Given the description of an element on the screen output the (x, y) to click on. 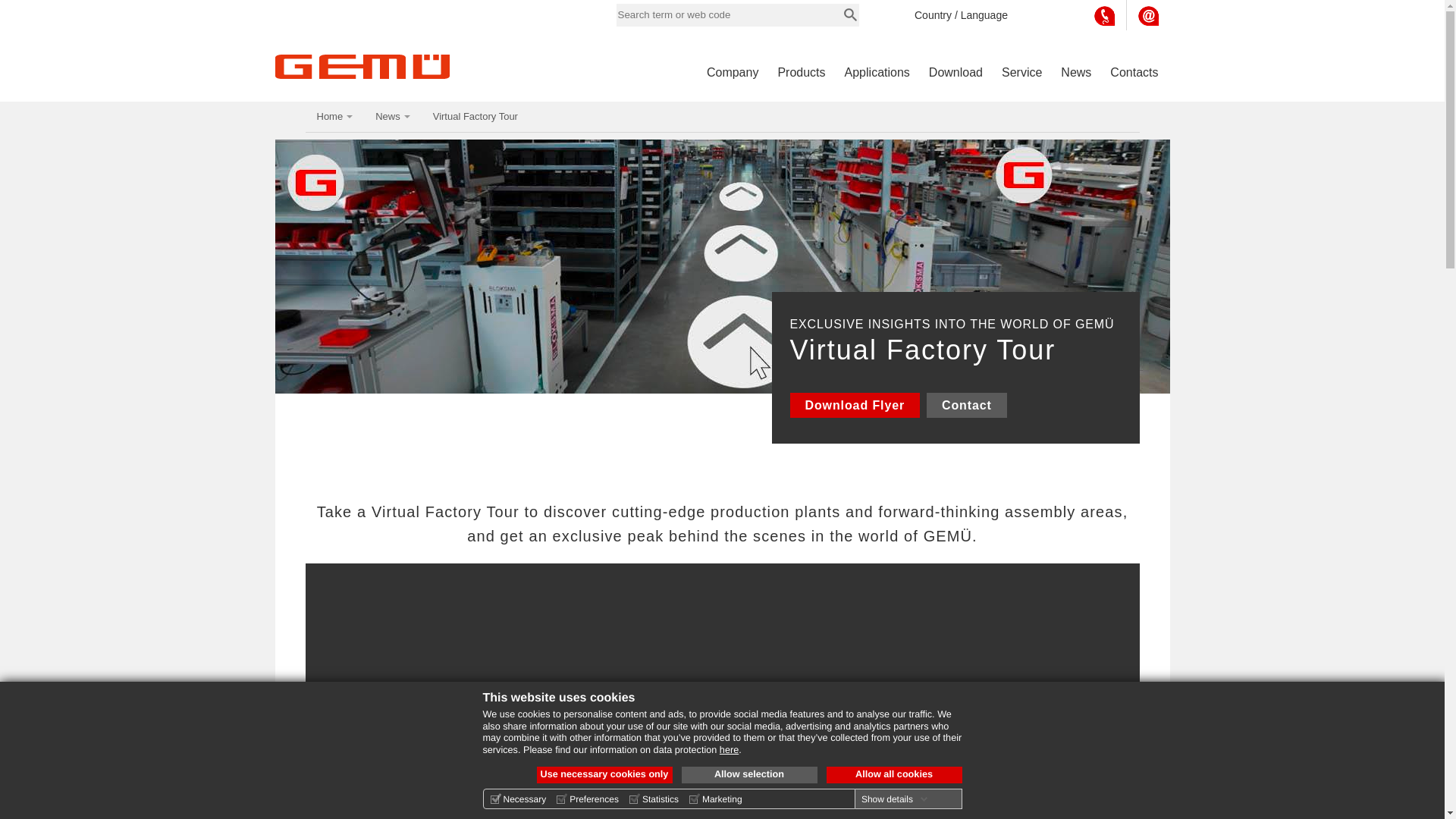
Use necessary cookies only (604, 774)
Allow selection (748, 774)
Allow all cookies (894, 774)
here (728, 749)
Show details (895, 799)
